Given the description of an element on the screen output the (x, y) to click on. 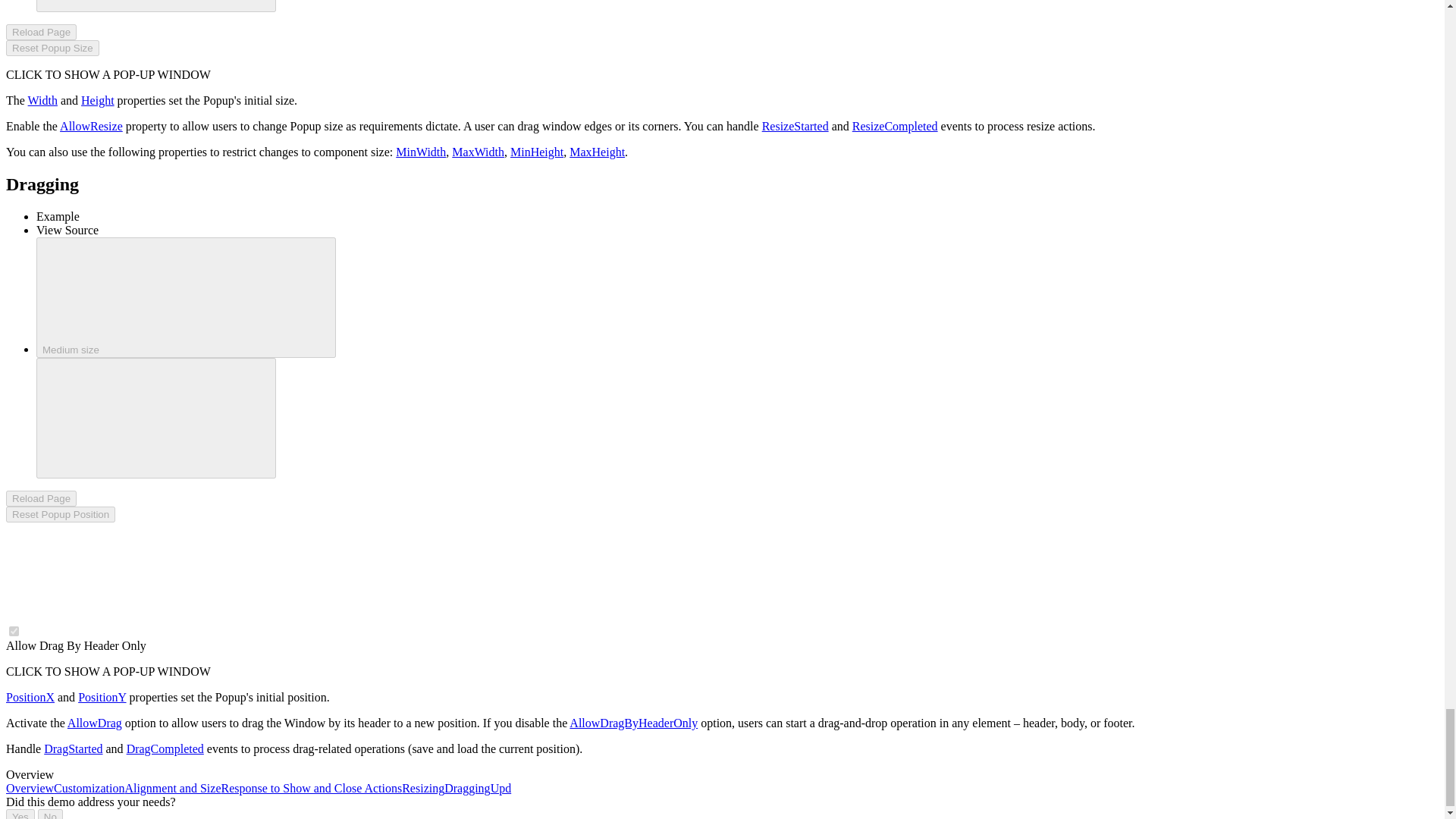
More items... (156, 417)
More items... (156, 6)
on (13, 631)
